Given the description of an element on the screen output the (x, y) to click on. 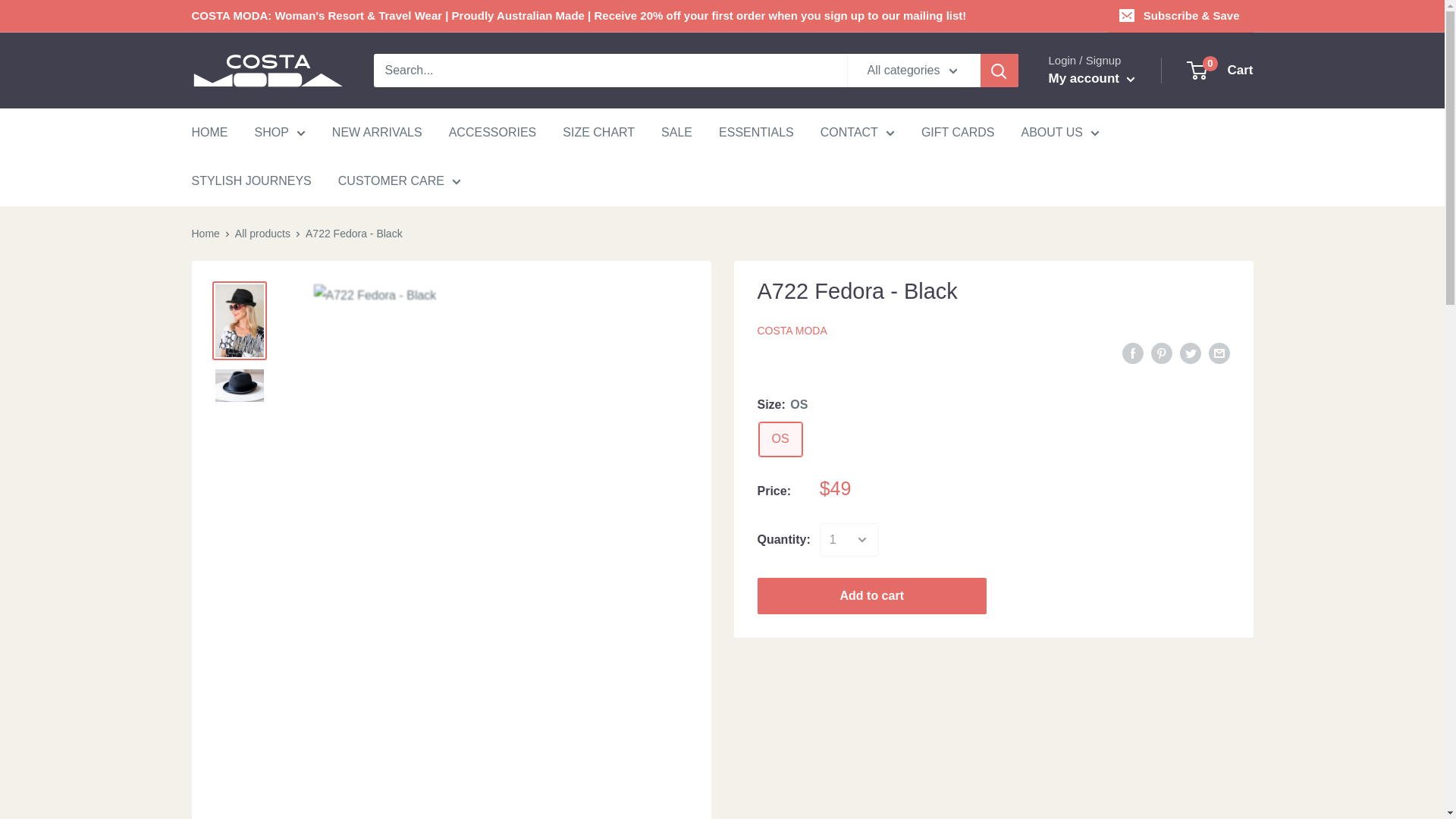
OS (780, 439)
